Given the description of an element on the screen output the (x, y) to click on. 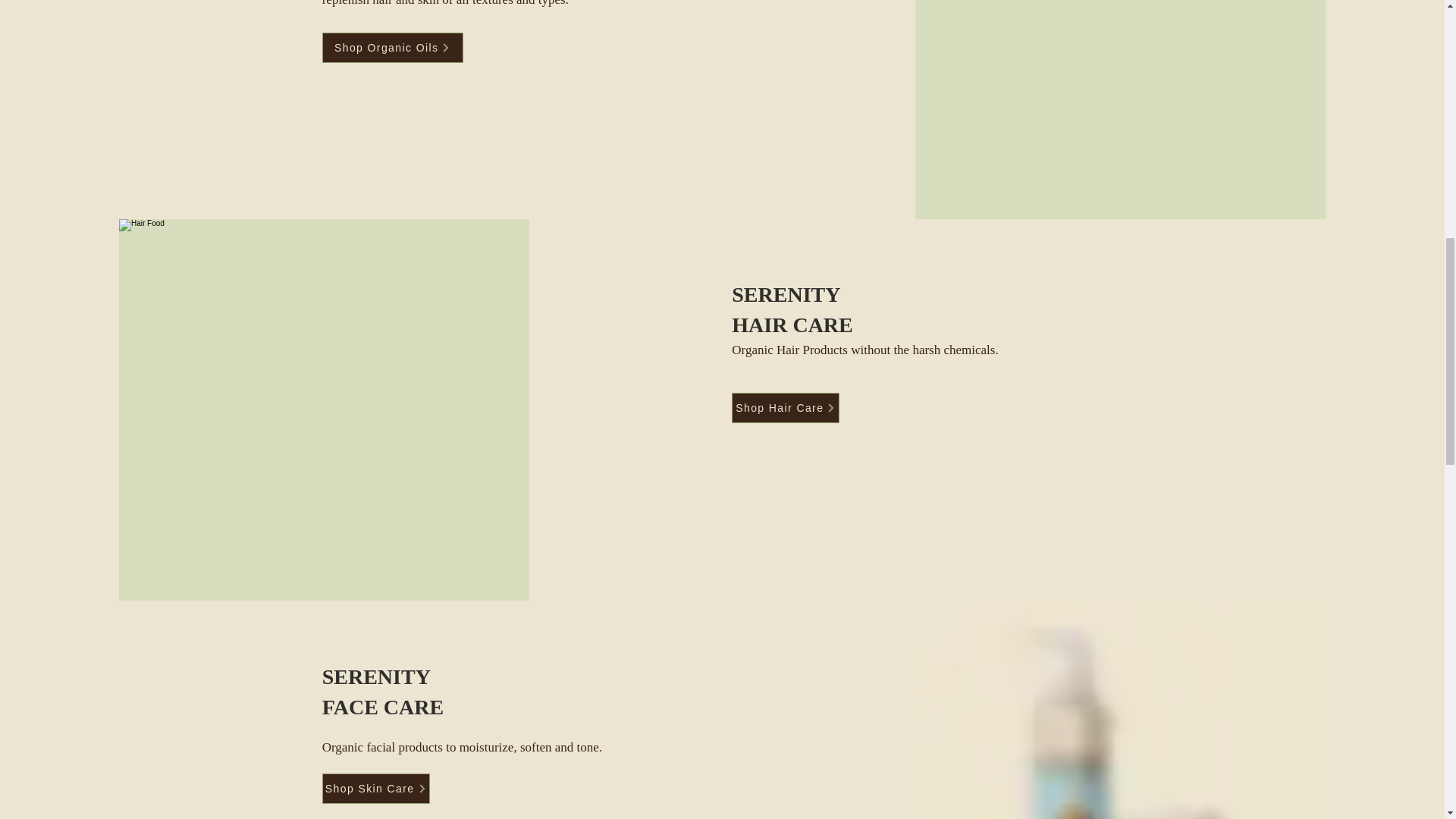
Shop Skin Care (375, 788)
Shop Organic Oils (392, 47)
Shop Hair Care (786, 408)
